Given the description of an element on the screen output the (x, y) to click on. 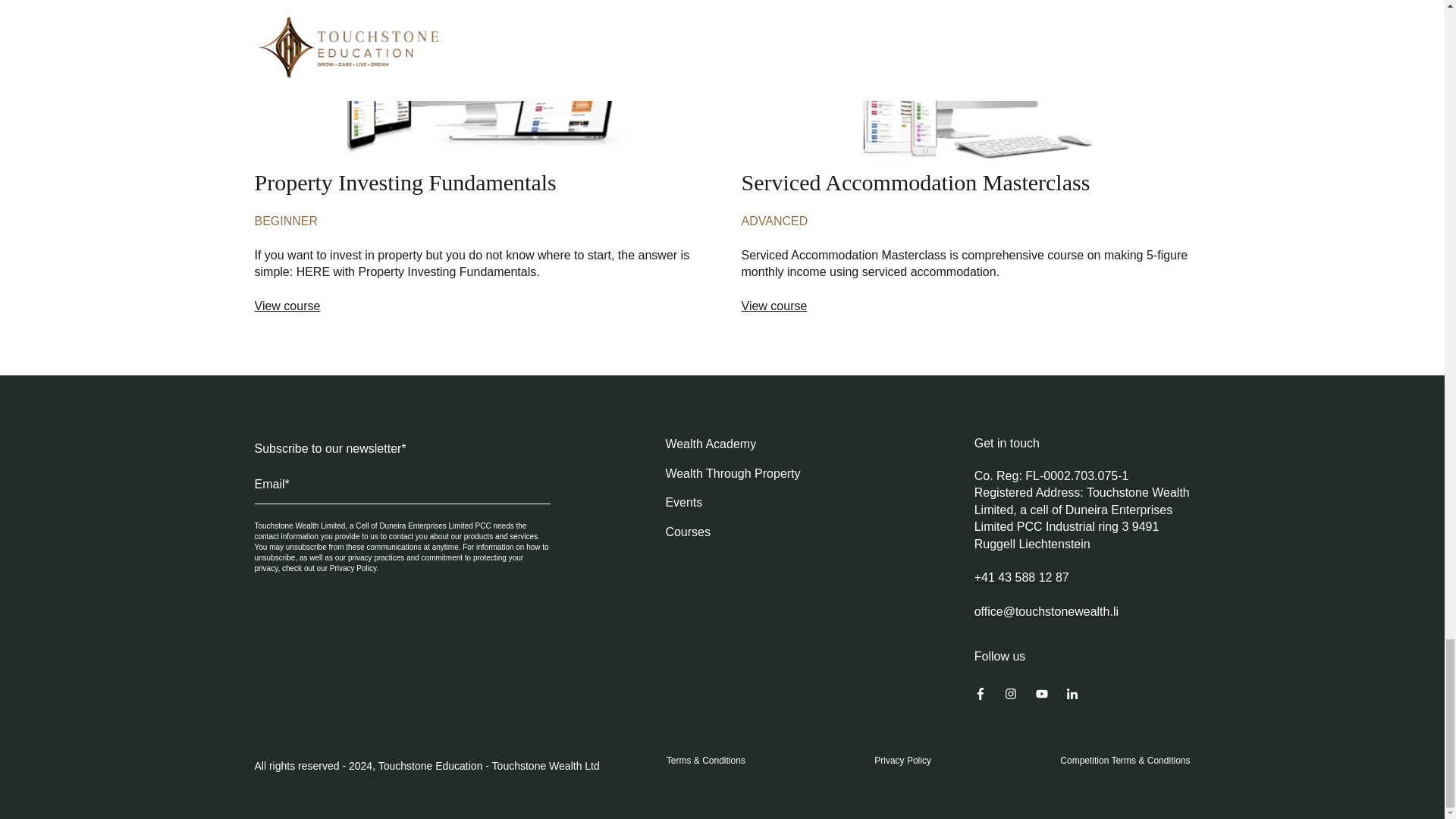
Follow us on Facebook (1043, 695)
Follow us on Facebook (1071, 695)
